Given the description of an element on the screen output the (x, y) to click on. 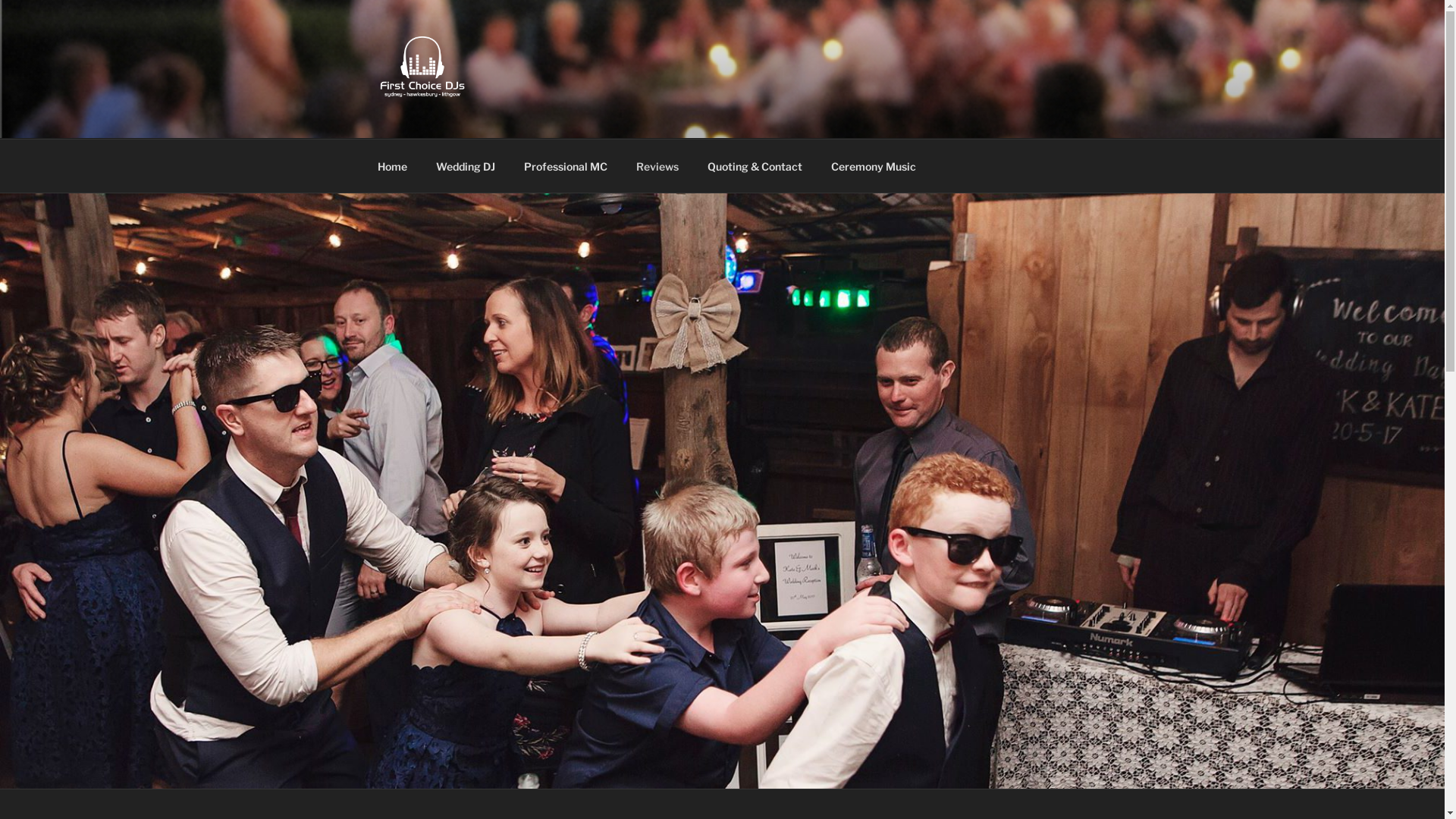
Professional MC Element type: text (566, 165)
Ceremony Music Element type: text (872, 165)
Quoting & Contact Element type: text (754, 165)
Home Element type: text (392, 165)
Reviews Element type: text (657, 165)
Wedding DJ Element type: text (465, 165)
